Given the description of an element on the screen output the (x, y) to click on. 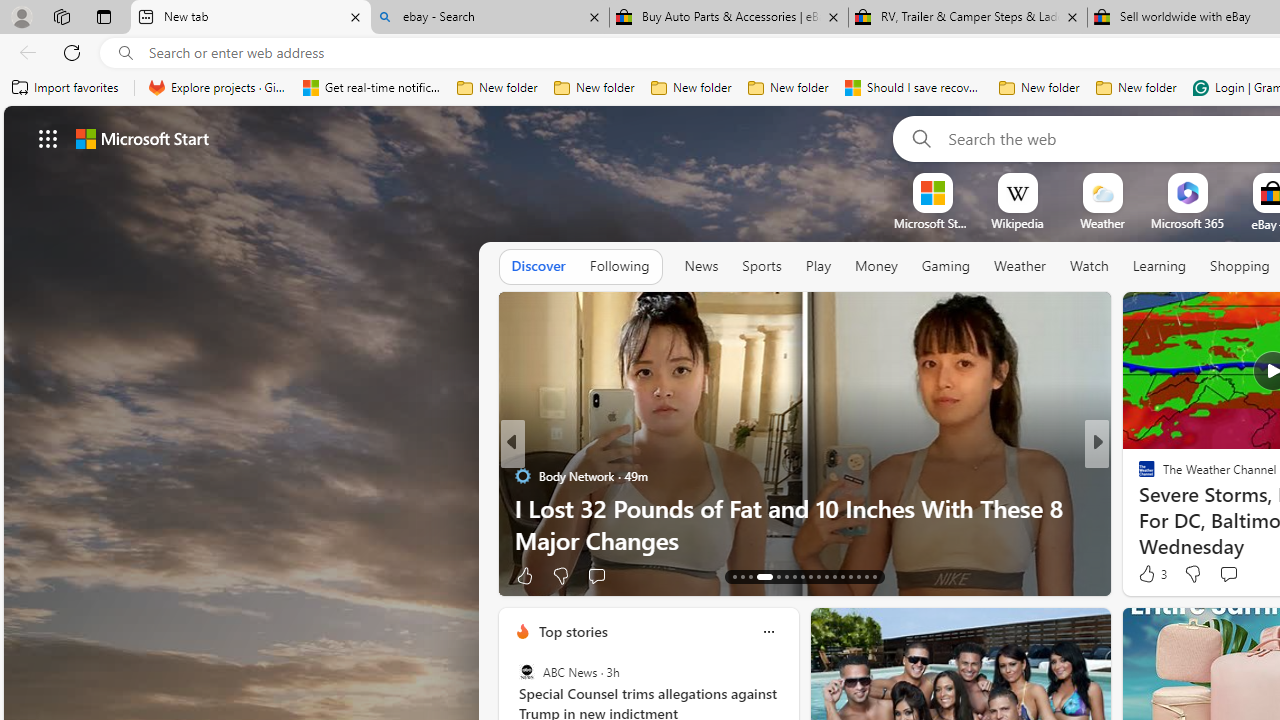
AutomationID: tab-29 (874, 576)
Search icon (125, 53)
Forge of Empires (1175, 507)
To get missing image descriptions, open the context menu. (932, 192)
AutomationID: tab-25 (842, 576)
Weather (1020, 265)
Top stories (572, 631)
AutomationID: tab-18 (786, 576)
View comments 96 Comment (628, 574)
Wikipedia (1017, 223)
Learning (1159, 267)
